Given the description of an element on the screen output the (x, y) to click on. 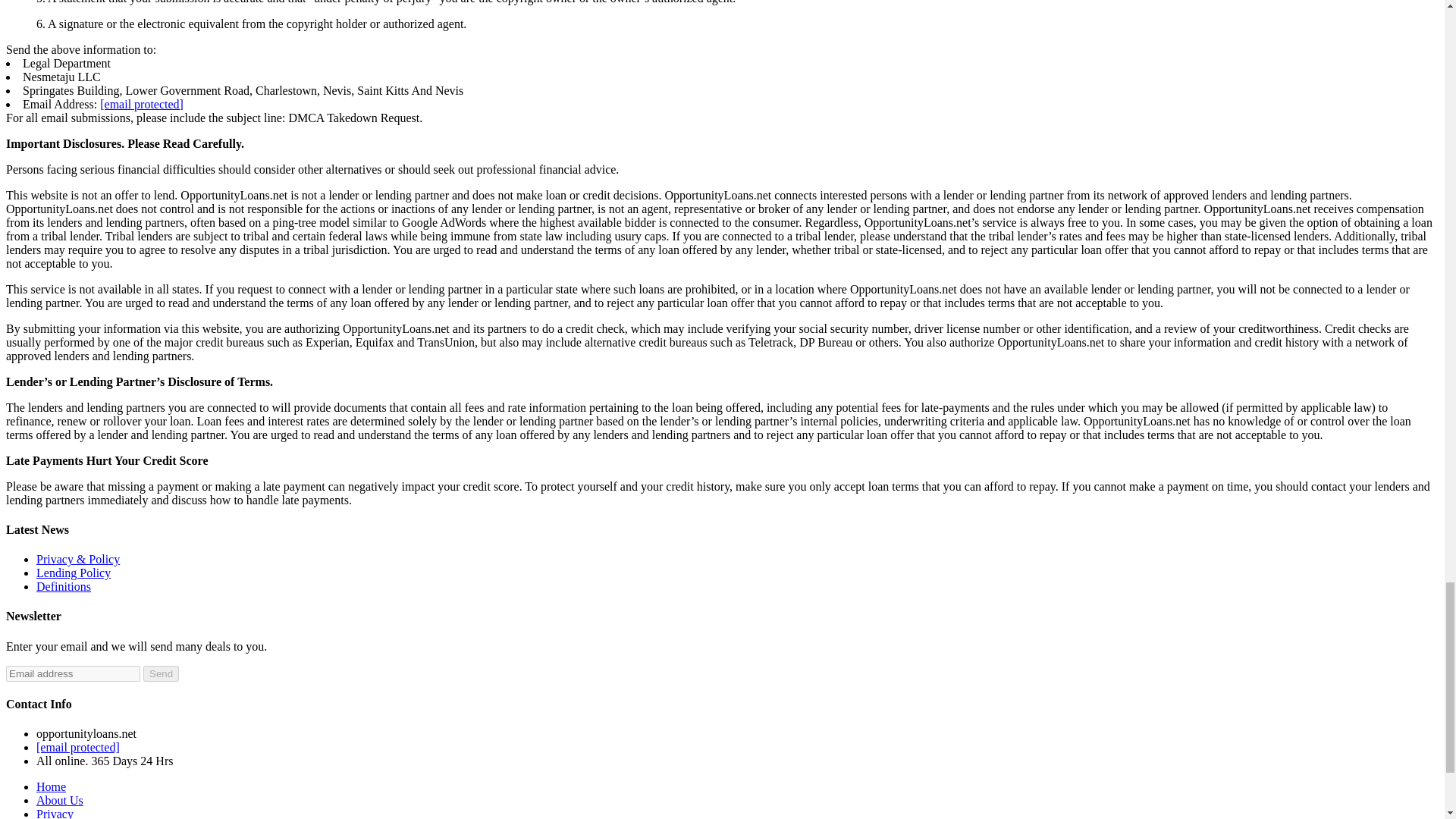
Definitions (63, 585)
Home (50, 786)
Send (160, 673)
Lending Policy (73, 572)
Send (160, 673)
